Given the description of an element on the screen output the (x, y) to click on. 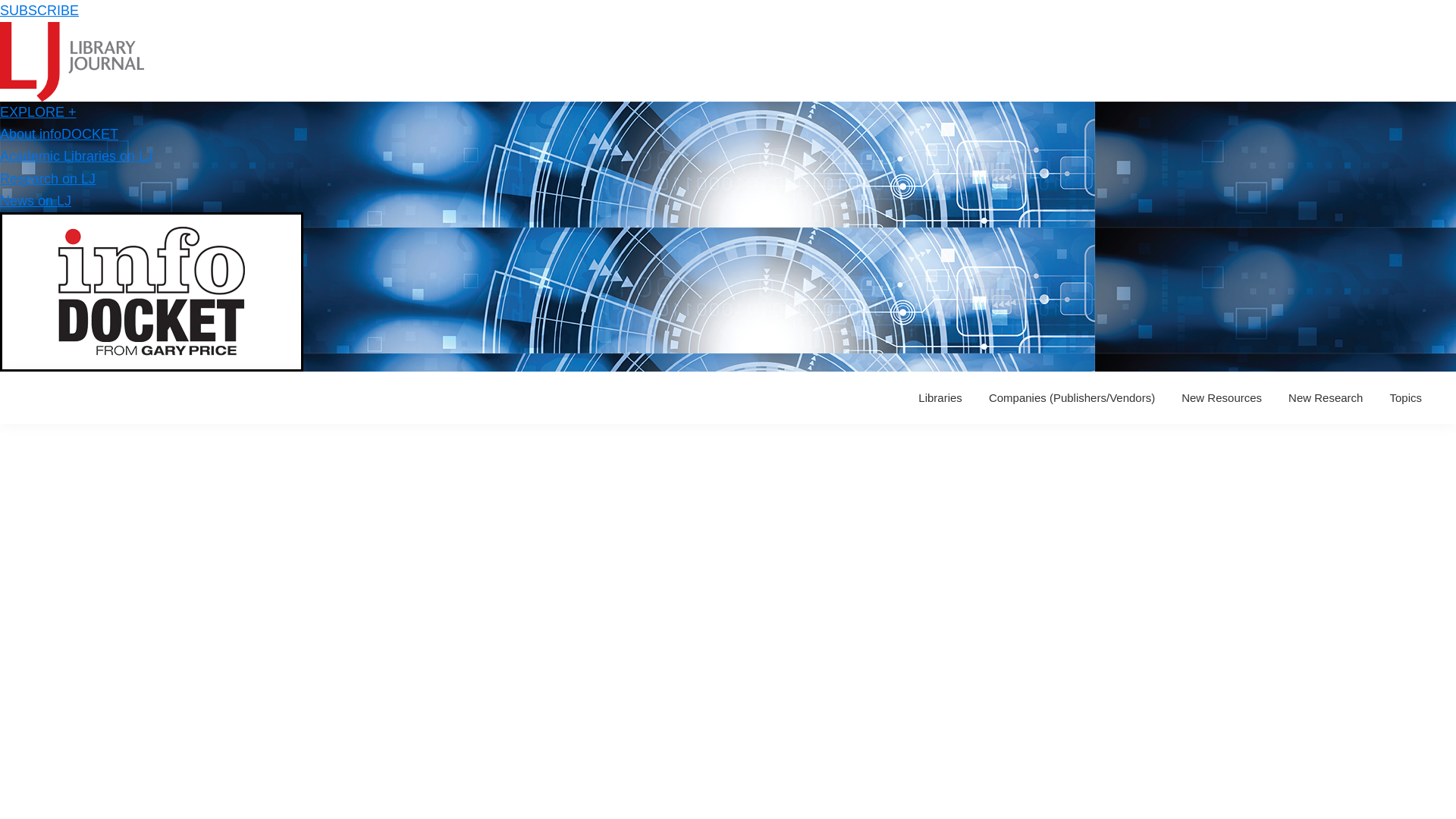
New Resources (1221, 397)
Academic Libraries on LJ (76, 155)
SUBSCRIBE (39, 10)
About infoDOCKET (58, 133)
New Research (1325, 397)
Research on LJ (48, 178)
Libraries (940, 397)
News on LJ (35, 200)
